Given the description of an element on the screen output the (x, y) to click on. 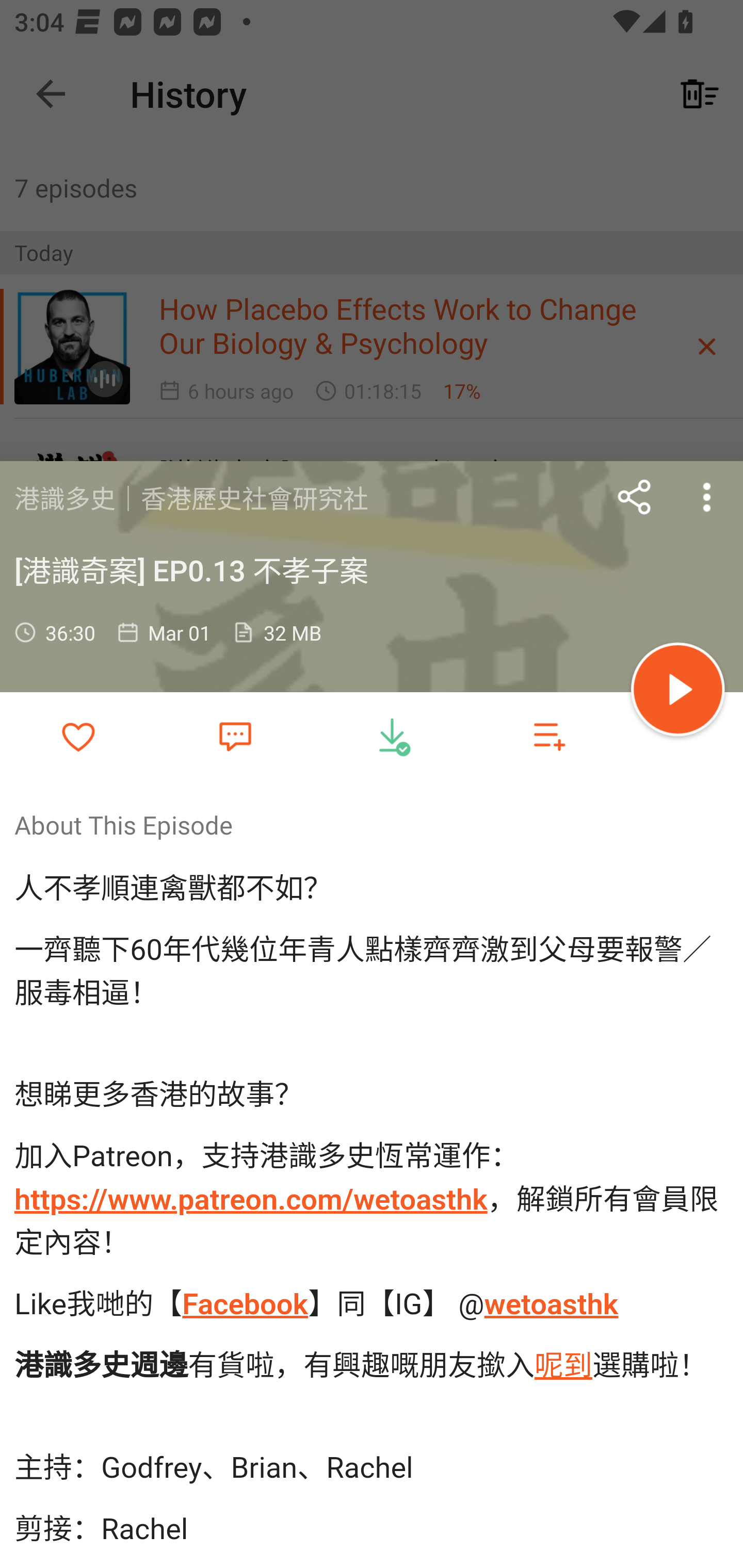
Share (634, 496)
more options (706, 496)
Play (677, 692)
Favorite (234, 735)
Add to Favorites (78, 735)
Downloaded (391, 735)
Add to playlist (548, 735)
https://www.patreon.com/wetoasthk (250, 1199)
⁠⁠⁠⁠Facebook⁠⁠⁠⁠ (244, 1303)
⁠⁠⁠⁠wetoasthk⁠⁠⁠⁠ (550, 1303)
⁠⁠⁠⁠呢到⁠⁠⁠⁠ (563, 1364)
